Given the description of an element on the screen output the (x, y) to click on. 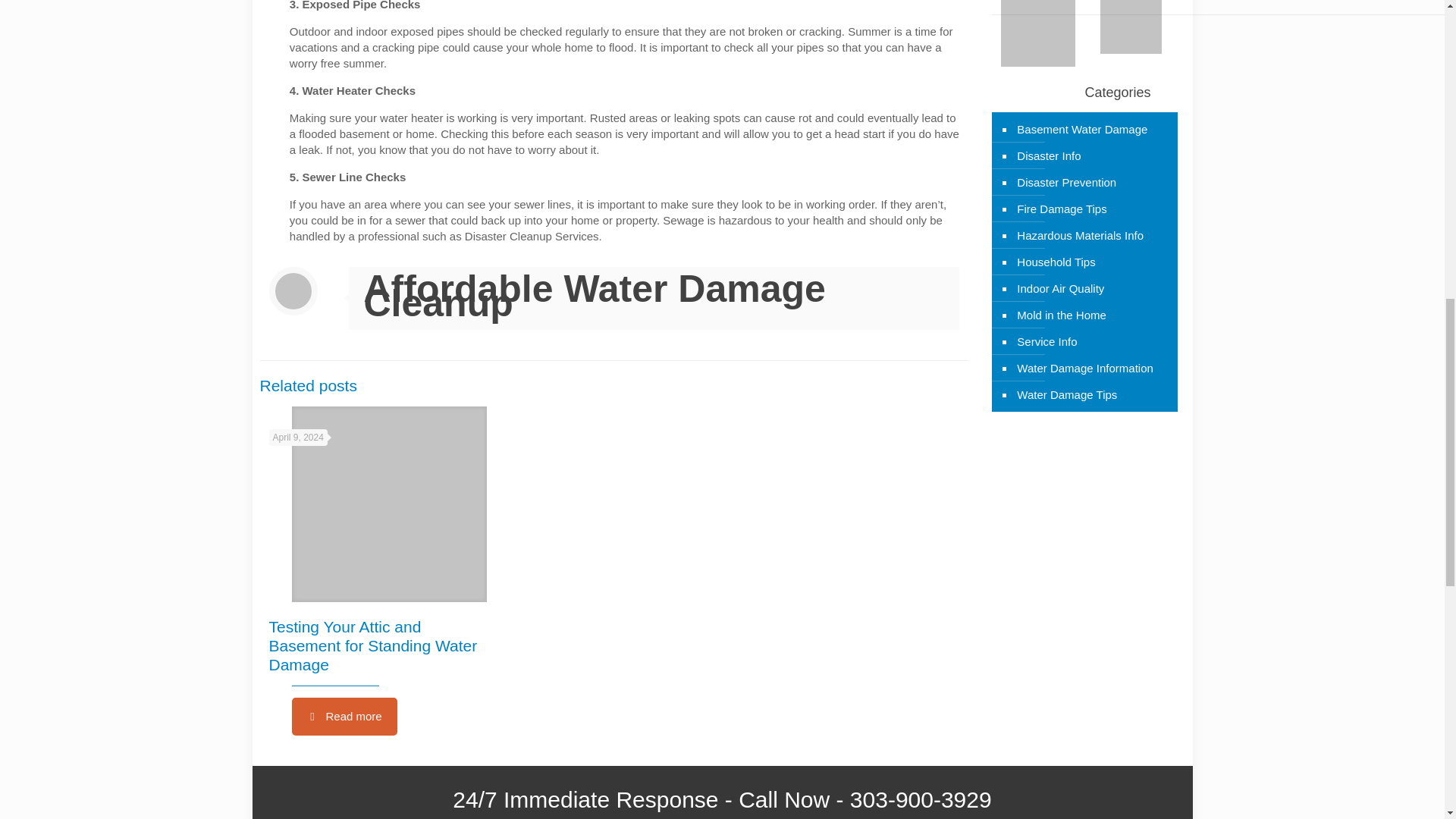
Affordable Water Damage Cleanup (594, 295)
Testing Your Attic and Basement for Standing Water Damage (372, 645)
Read more (343, 716)
